Given the description of an element on the screen output the (x, y) to click on. 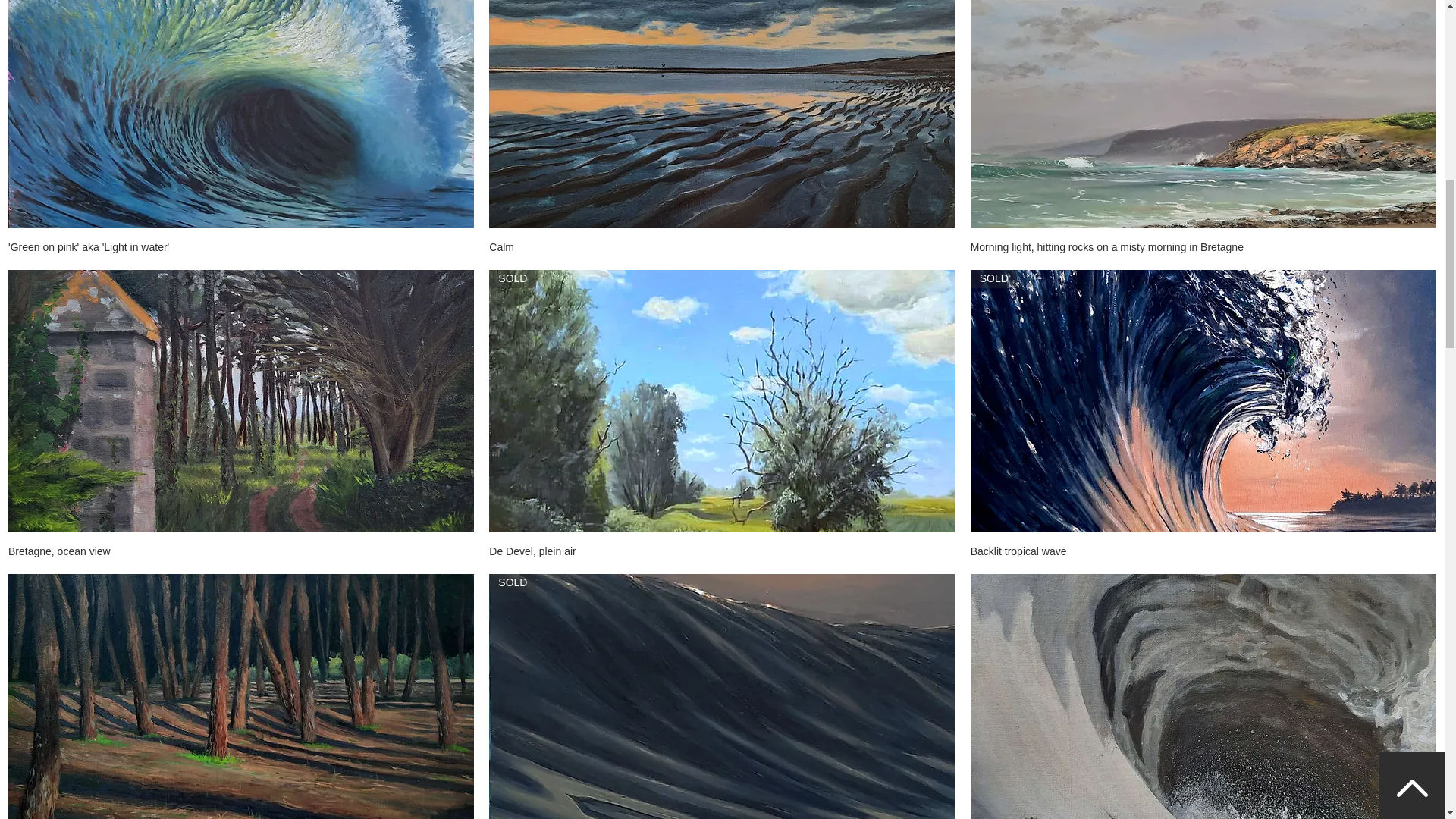
Calm (722, 247)
Morning light, hitting rocks on a misty morning in Bretagne (1203, 247)
'Green on pink' aka 'Light in water' (241, 247)
Bretagne, ocean view (241, 551)
SOLD (1203, 401)
Backlit tropical wave (1203, 551)
SOLD (722, 401)
SOLD (722, 696)
De Devel, plein air (722, 551)
